Given the description of an element on the screen output the (x, y) to click on. 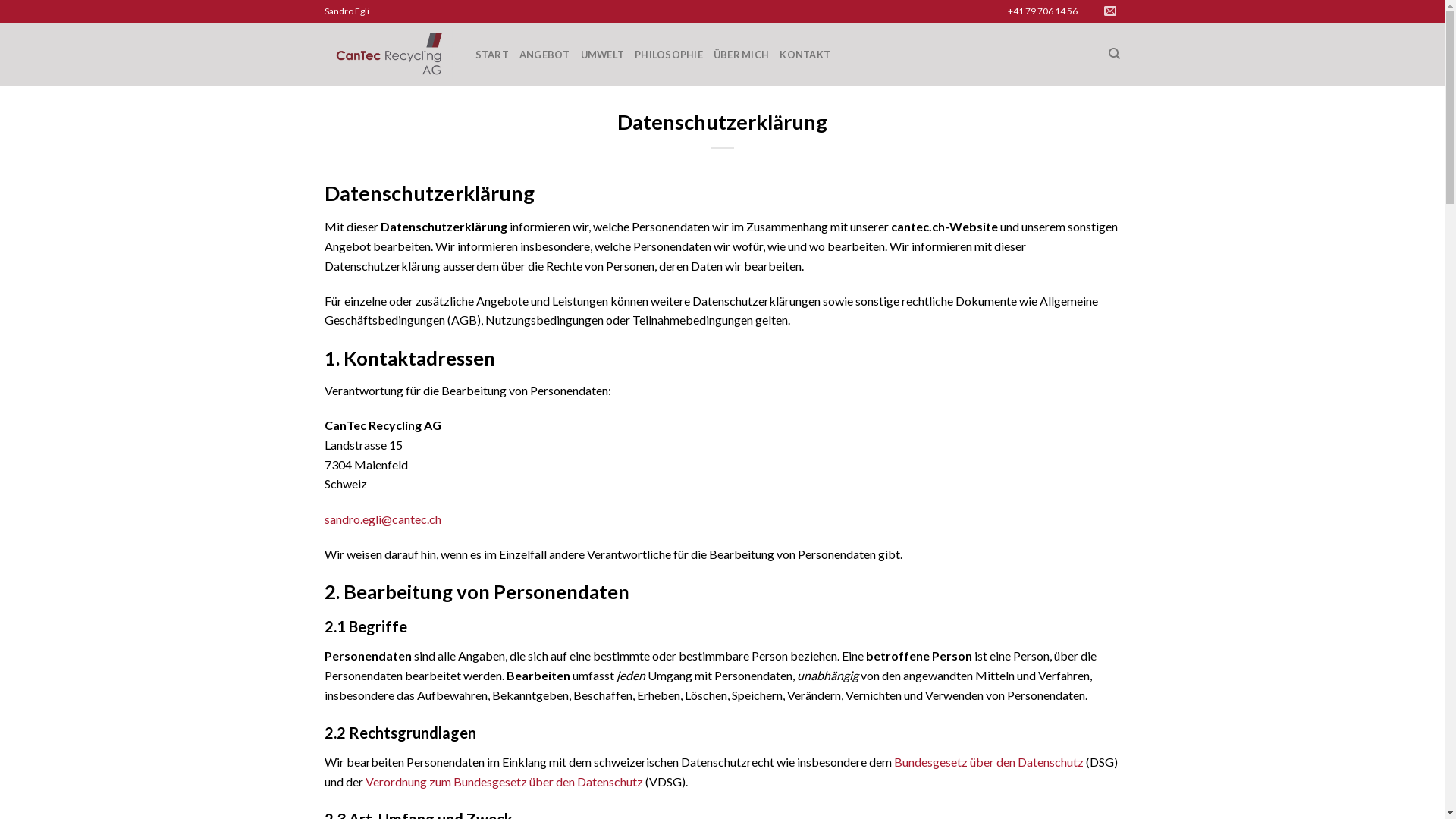
Cantec AG - Sandro Egli Element type: hover (388, 53)
sandro.egli@cantec.ch Element type: text (382, 518)
UMWELT Element type: text (602, 54)
START Element type: text (491, 54)
KONTAKT Element type: text (804, 54)
sandro.egli@cantec.ch Element type: hover (1112, 10)
ANGEBOT Element type: text (544, 54)
PHILOSOPHIE Element type: text (668, 54)
